Given the description of an element on the screen output the (x, y) to click on. 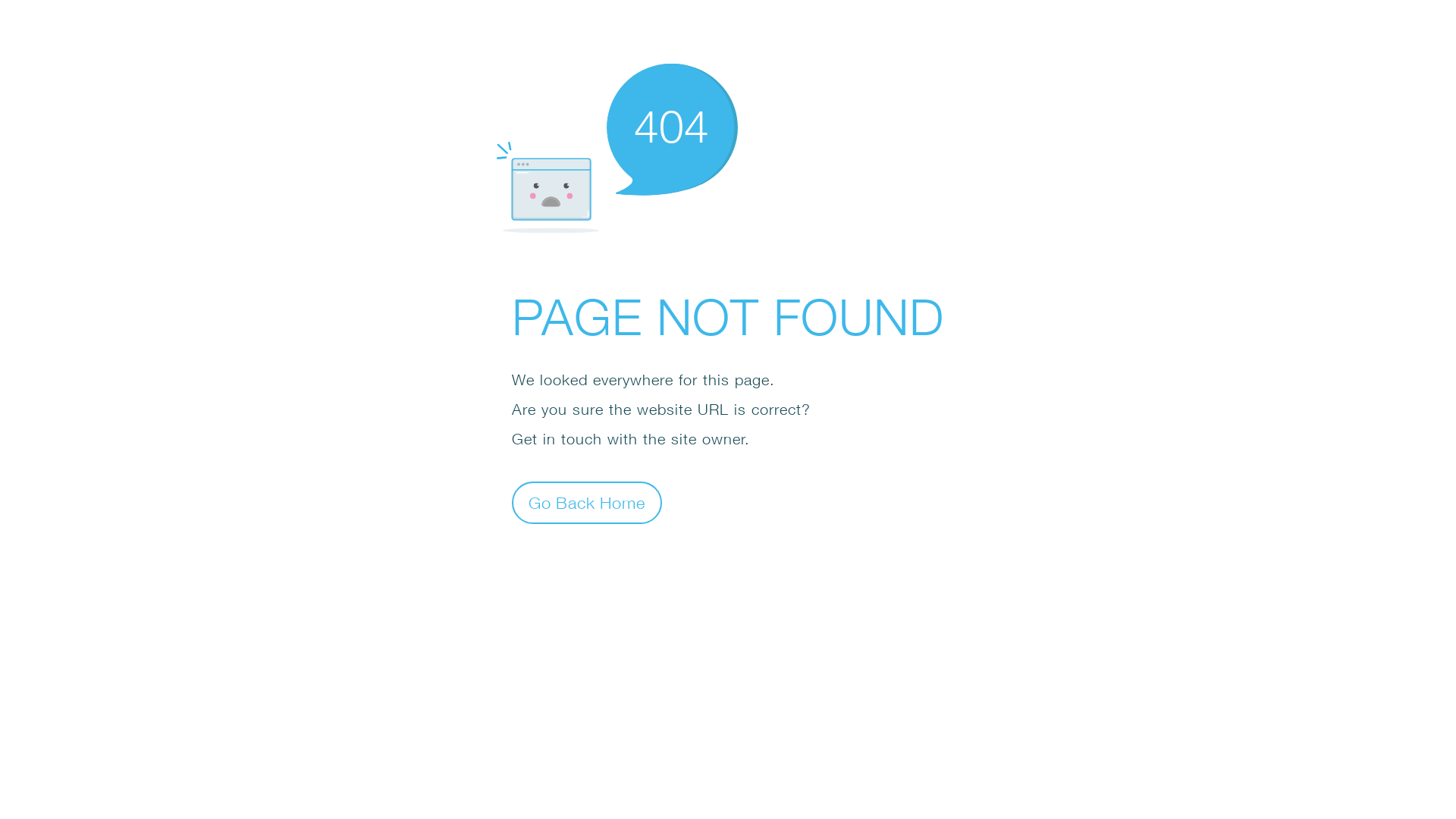
Go Back Home Element type: text (586, 502)
